Given the description of an element on the screen output the (x, y) to click on. 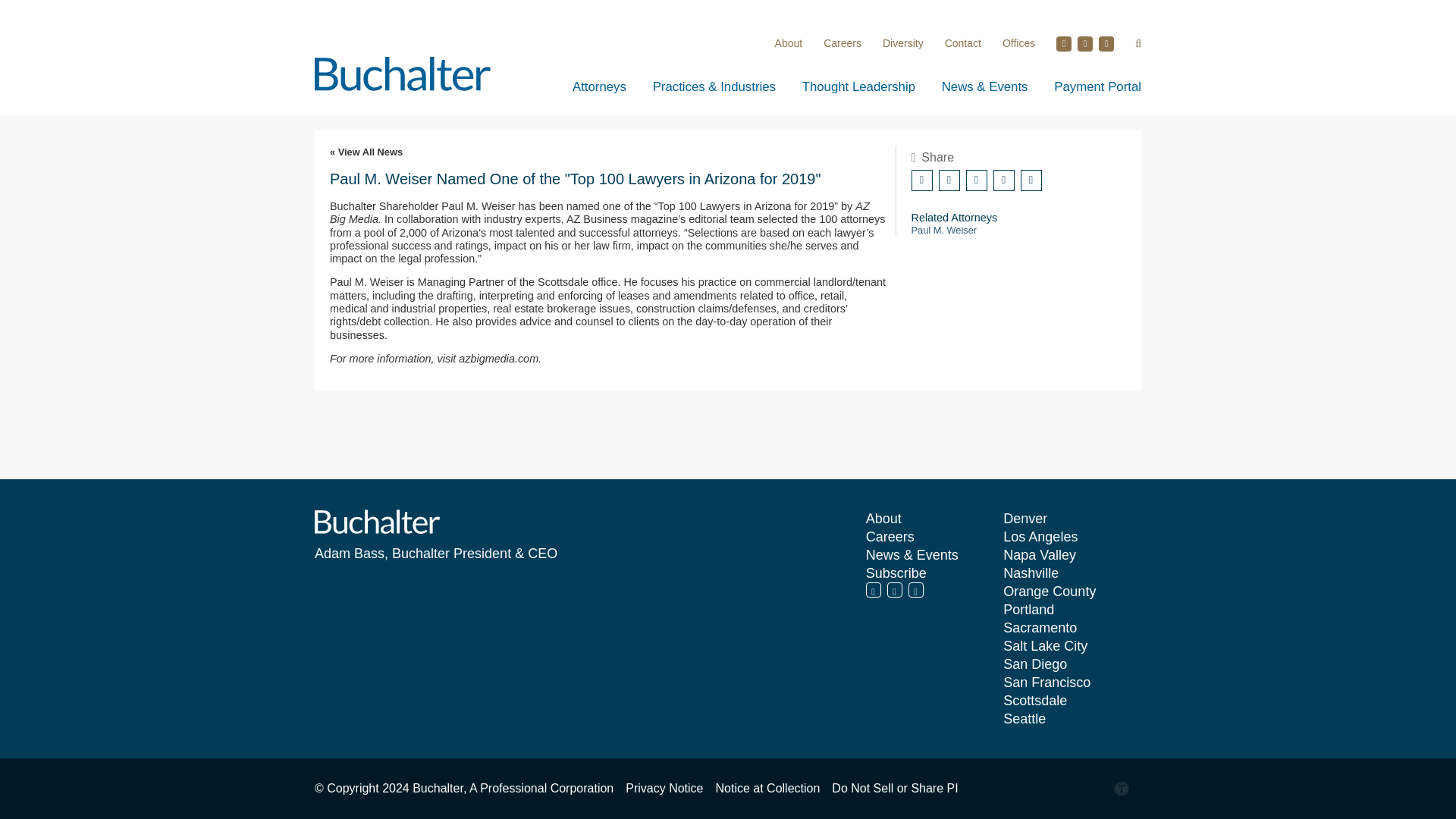
Thought Leadership (858, 86)
Offices (1019, 42)
Diversity (902, 42)
Careers (842, 42)
About (788, 42)
Attorneys (599, 86)
Contact (962, 42)
